Given the description of an element on the screen output the (x, y) to click on. 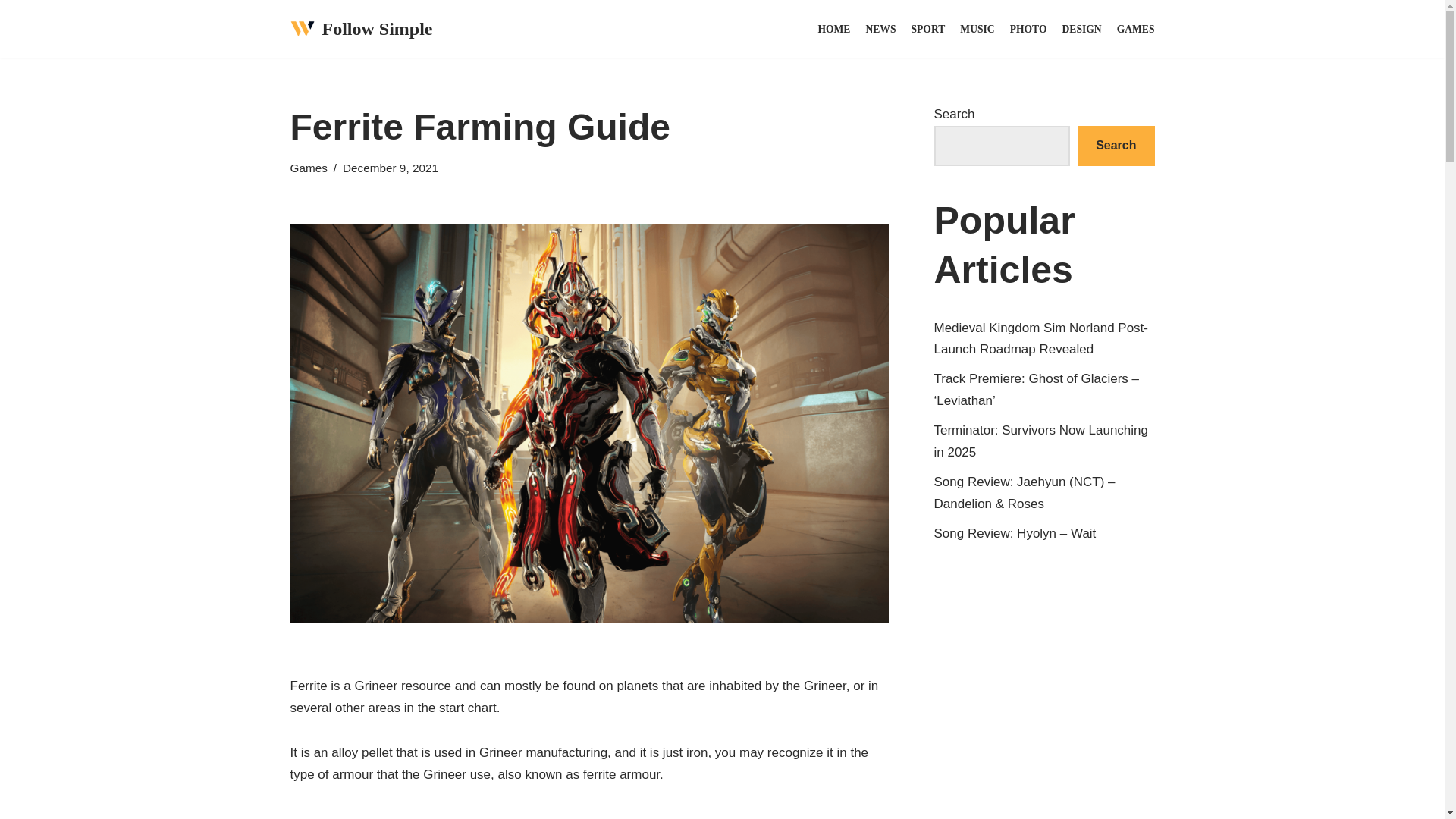
Follow Simple (360, 29)
PHOTO (1028, 28)
GAMES (1135, 28)
Search (1115, 146)
SPORT (927, 28)
NEWS (879, 28)
Medieval Kingdom Sim Norland Post-Launch Roadmap Revealed (1041, 339)
MUSIC (976, 28)
HOME (833, 28)
Terminator: Survivors Now Launching in 2025 (1041, 441)
